Given the description of an element on the screen output the (x, y) to click on. 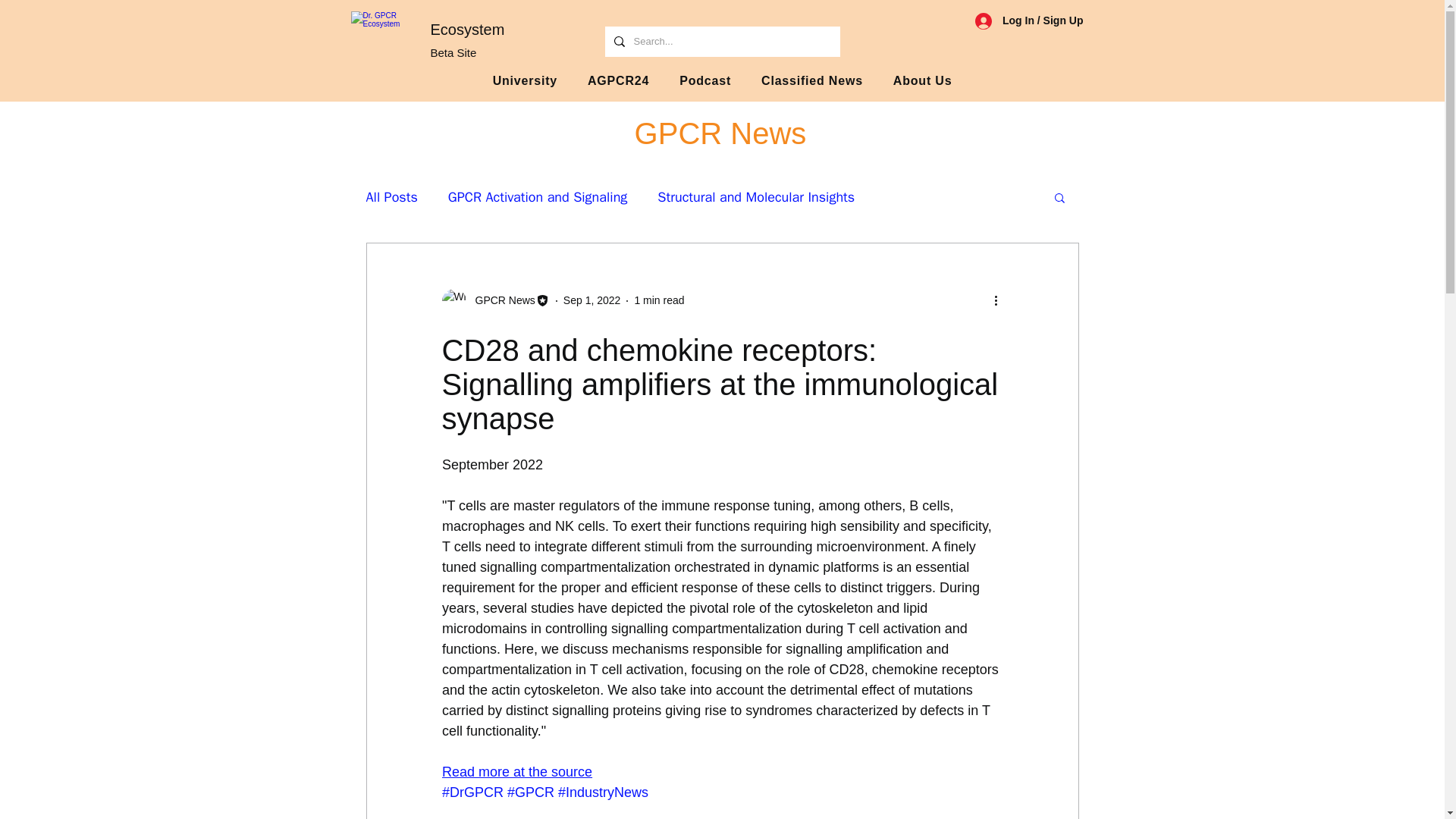
Sep 1, 2022 (592, 300)
About Us (922, 81)
GPCR News (499, 300)
Podcast (704, 81)
University (524, 81)
Classified News (812, 81)
AGPCR24 (721, 81)
1 min read (617, 81)
